Given the description of an element on the screen output the (x, y) to click on. 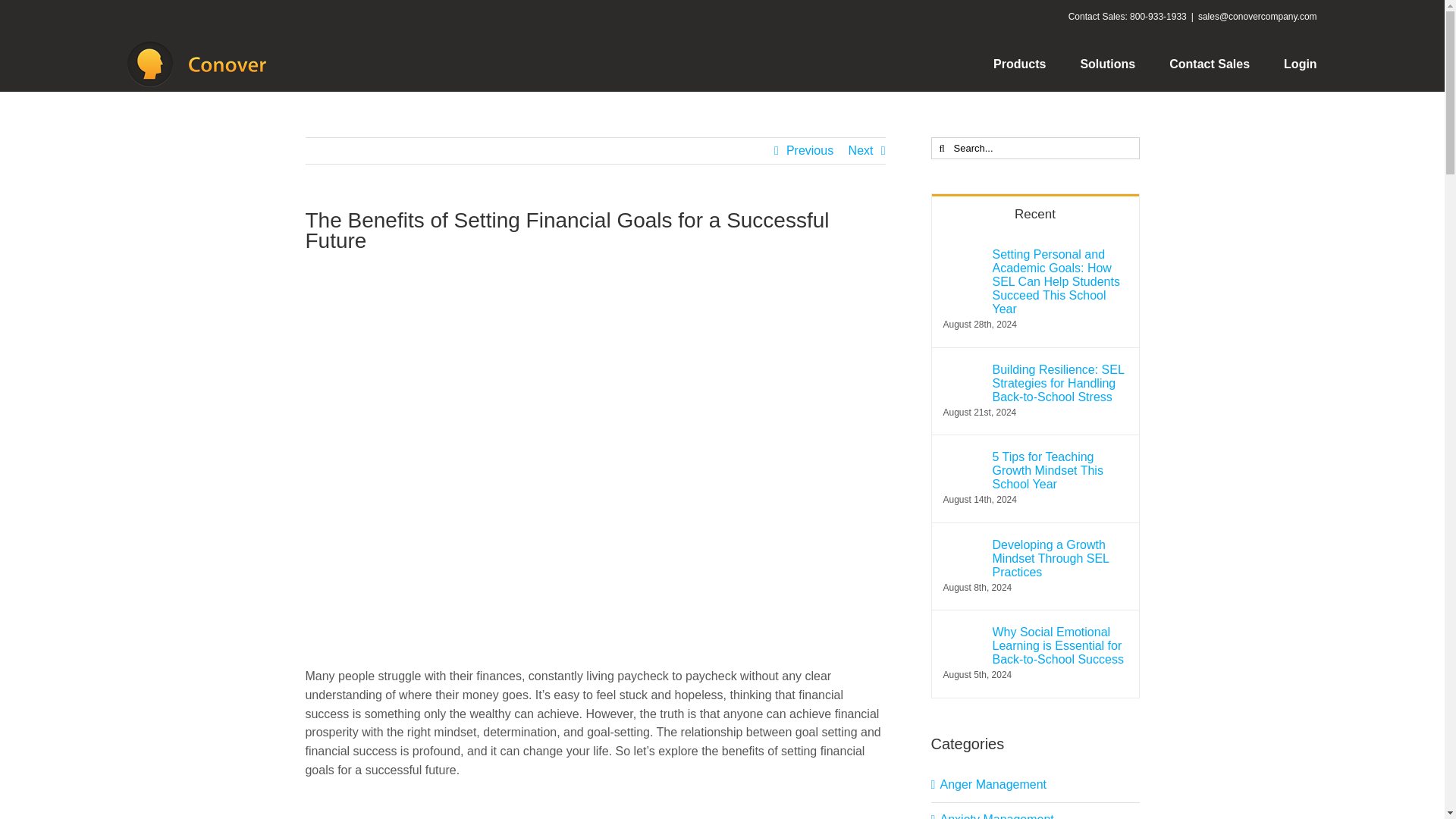
Solutions (1107, 63)
800-933-1933 (1157, 16)
Products (1018, 63)
